Given the description of an element on the screen output the (x, y) to click on. 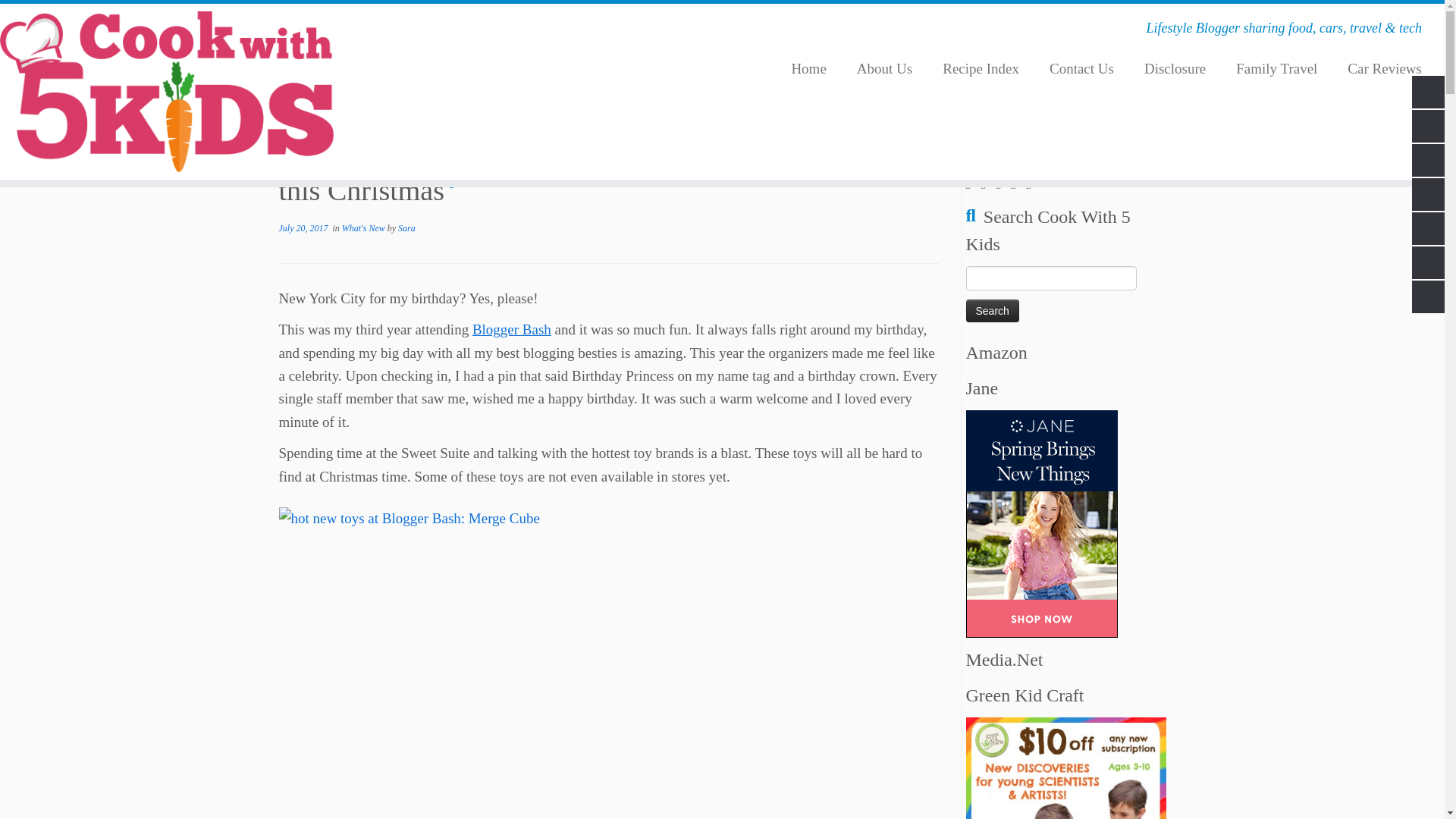
Blogger Bash (511, 329)
Cookwith5Kids (296, 107)
View all posts by Sara (405, 227)
Family Travel (1276, 69)
Disclosure (1175, 69)
Search (992, 310)
What's New (363, 107)
About Us (884, 69)
Recipe Index (980, 69)
5:28 pm (304, 227)
Home (808, 69)
Sara (405, 227)
Home (296, 107)
View all posts in What's New (364, 227)
What's New (364, 227)
